Given the description of an element on the screen output the (x, y) to click on. 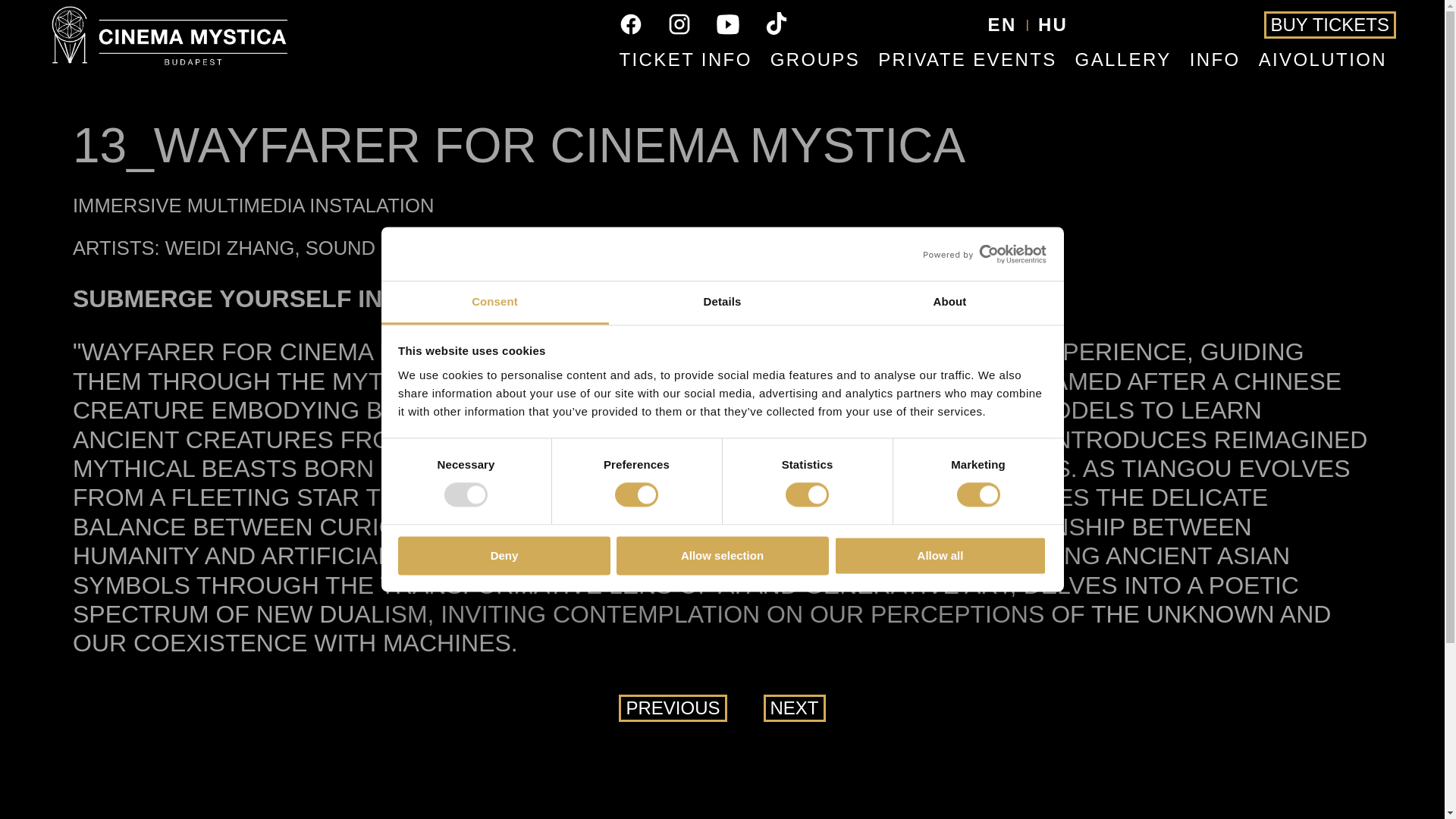
Consent (494, 302)
Deny (503, 555)
Allow selection (721, 555)
EN (1002, 25)
Allow all (940, 555)
Details (721, 302)
About (948, 302)
HU (1052, 25)
